Given the description of an element on the screen output the (x, y) to click on. 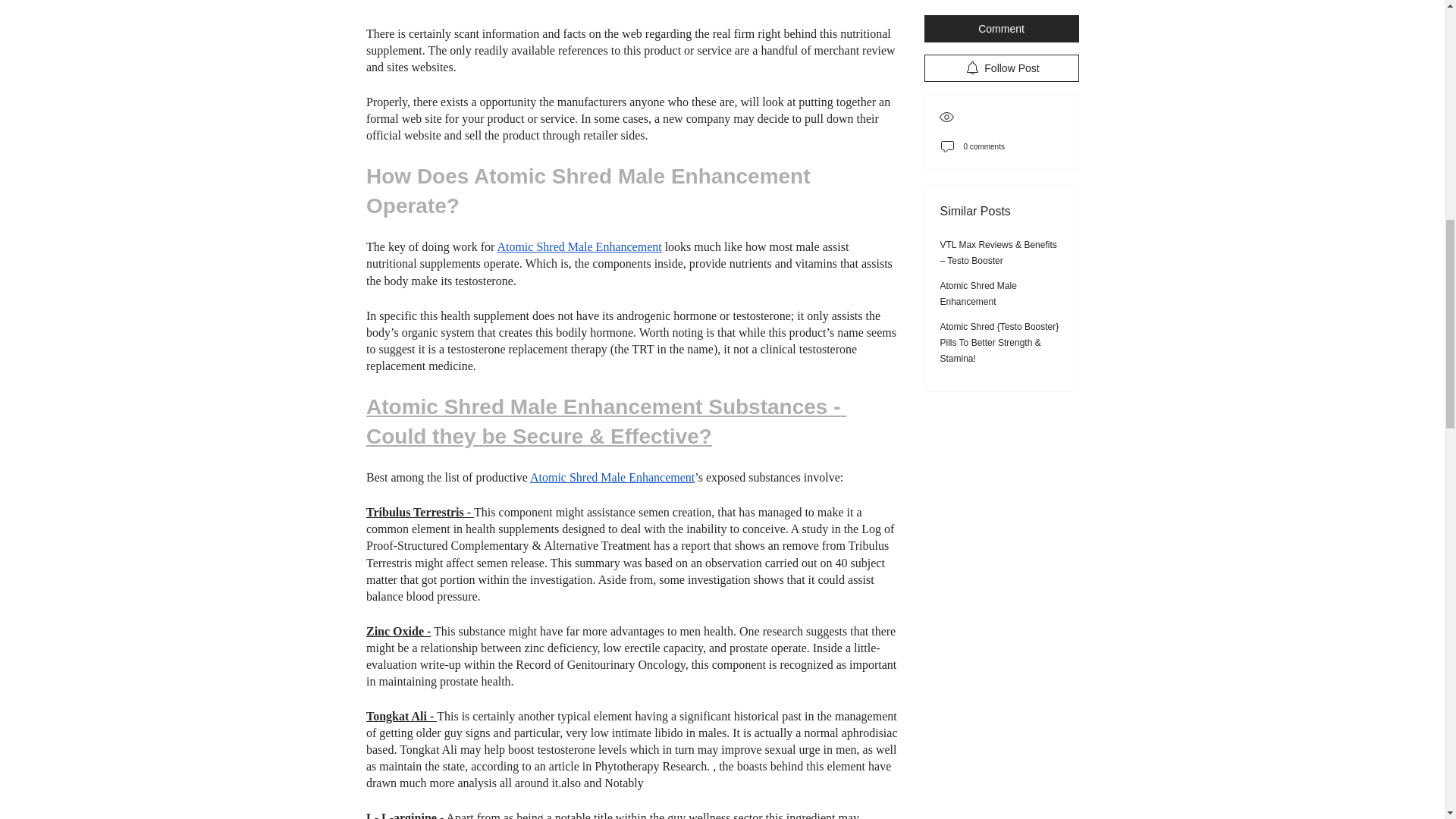
Atomic Shred Male Enhancement (611, 477)
Atomic Shred Male Enhancement (578, 246)
